Given the description of an element on the screen output the (x, y) to click on. 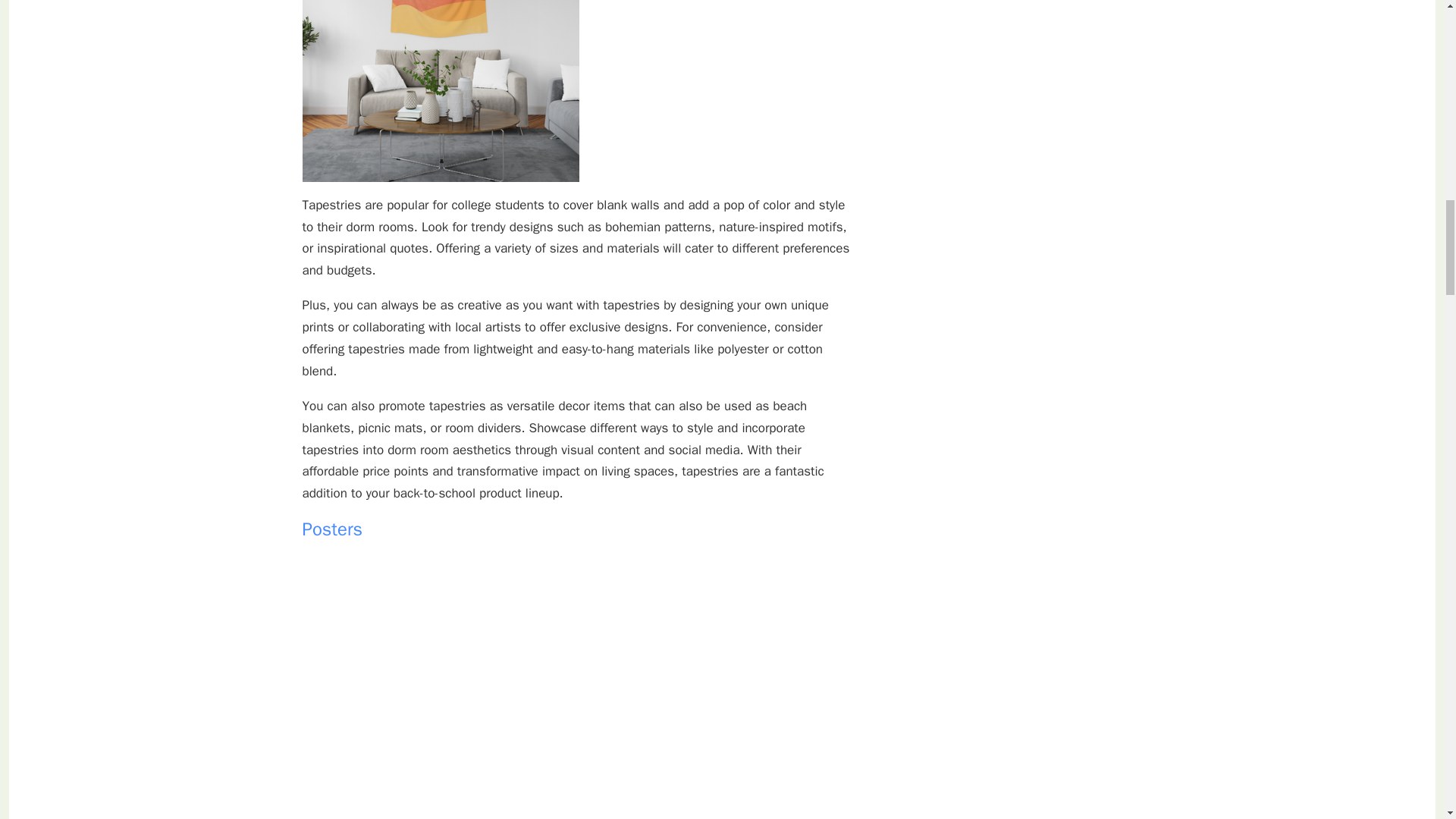
Posters (331, 528)
